Given the description of an element on the screen output the (x, y) to click on. 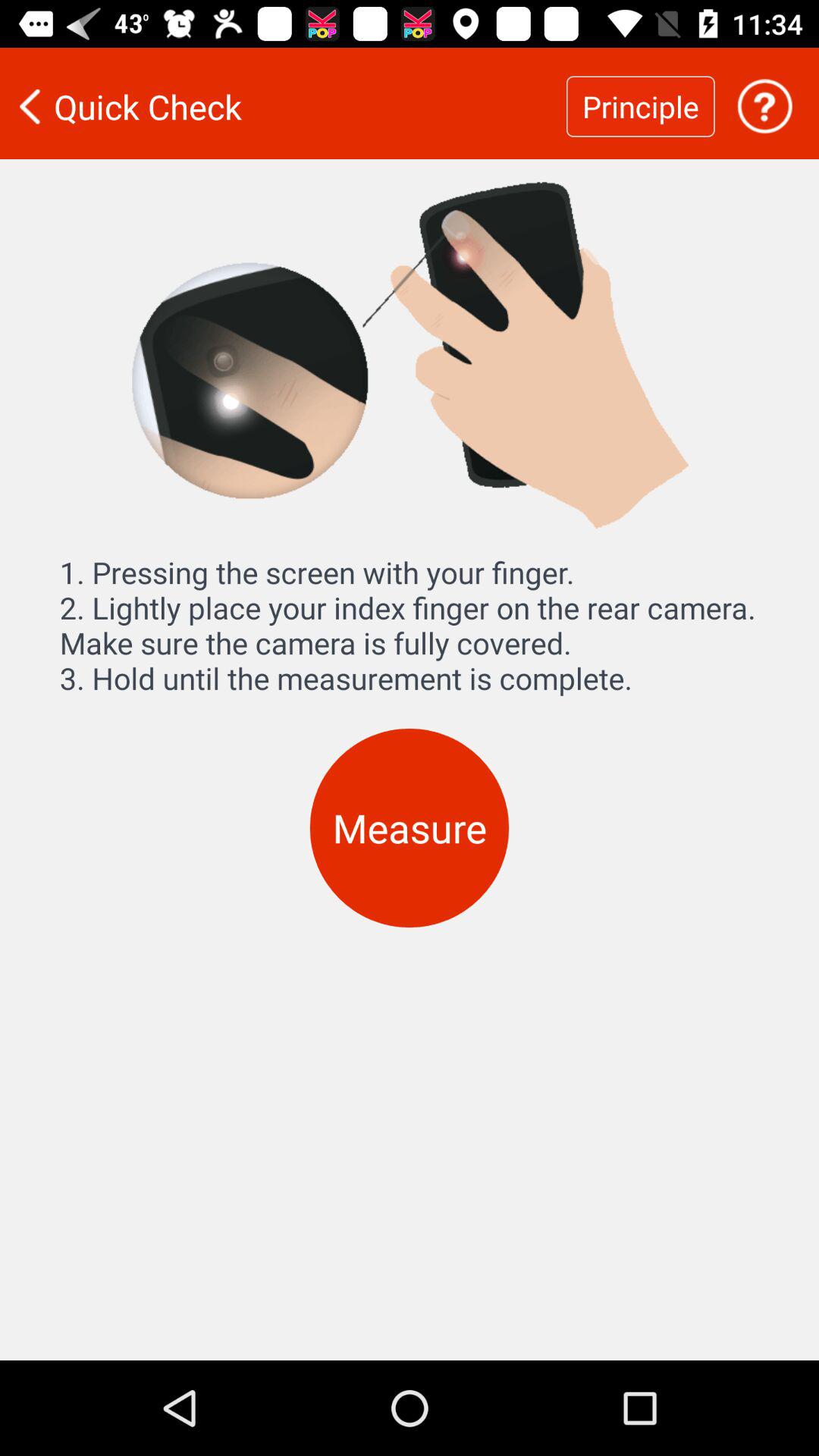
open item to the left of the principle icon (283, 106)
